Given the description of an element on the screen output the (x, y) to click on. 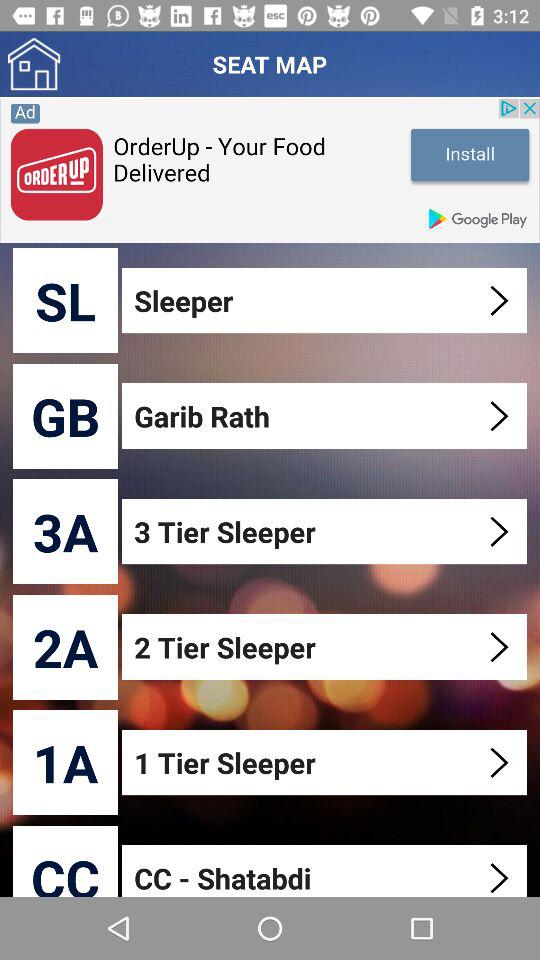
press the icon next to garib rath (65, 415)
